Given the description of an element on the screen output the (x, y) to click on. 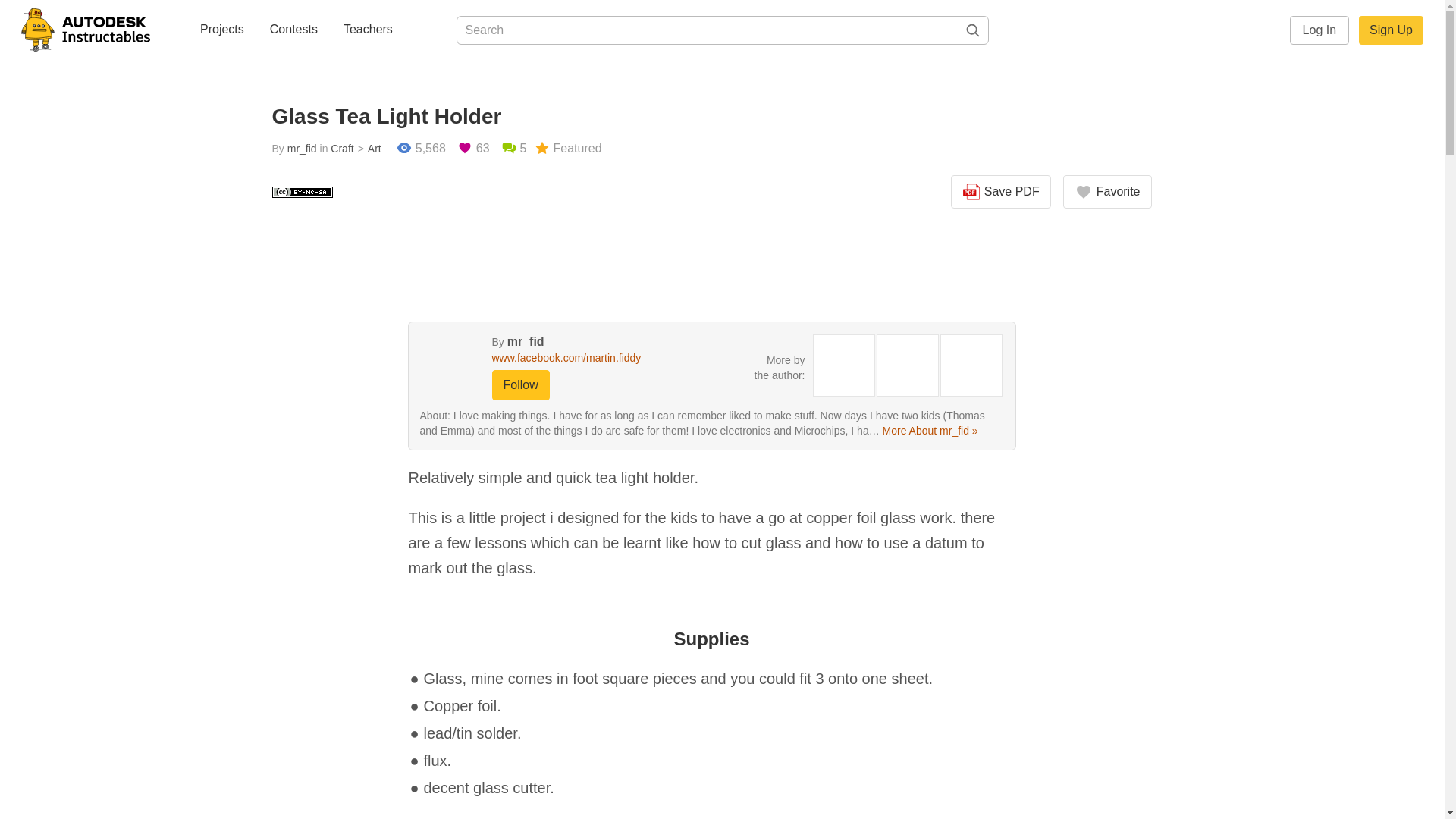
Contests (293, 30)
Teachers (368, 30)
Favorite (1106, 191)
Follow (520, 385)
Craft (341, 148)
Save PDF (1000, 191)
5 (513, 148)
Log In (1319, 30)
Sign Up (1390, 30)
Projects (221, 30)
Art (367, 148)
